Given the description of an element on the screen output the (x, y) to click on. 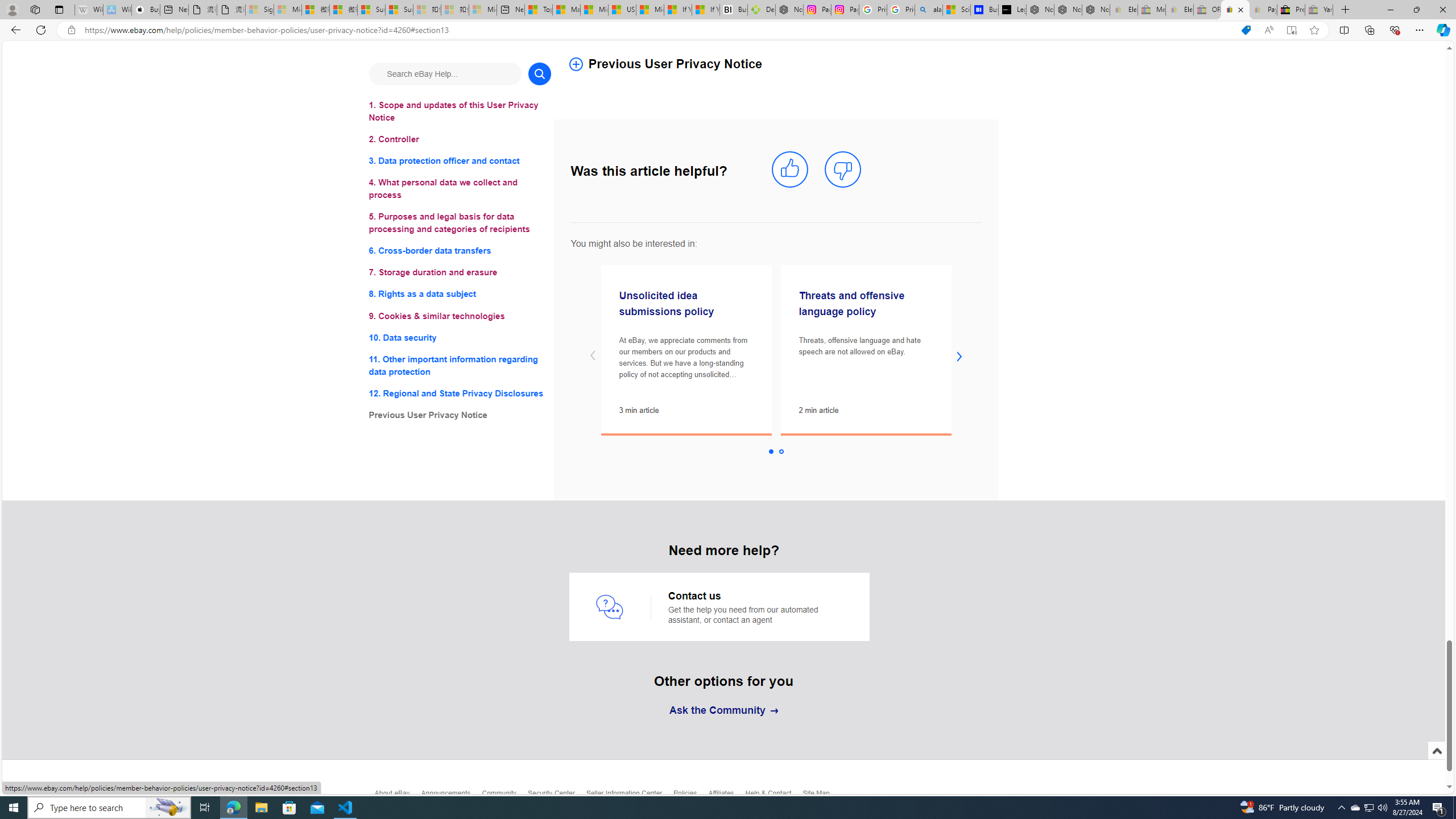
Security Center (556, 796)
alabama high school quarterback dies - Search (928, 9)
This site has coupons! Shopping in Microsoft Edge (1245, 29)
Search eBay Help... (444, 73)
Previous User Privacy Notice (459, 414)
Seller Information Center (629, 796)
Help & Contact (774, 795)
